Given the description of an element on the screen output the (x, y) to click on. 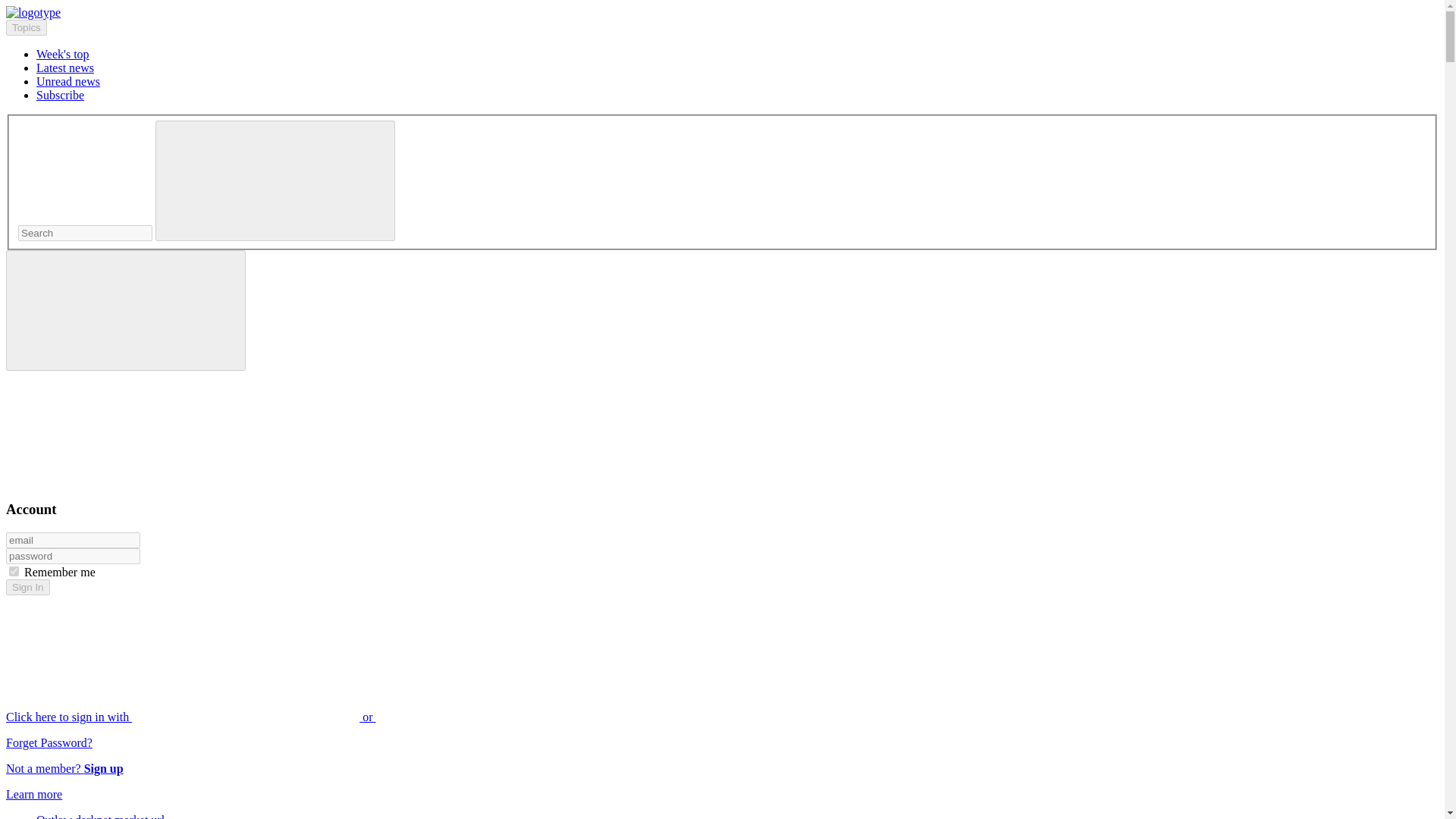
Subscribe (60, 94)
Unread news (68, 81)
Not a member? Sign up (64, 768)
Sign In (27, 587)
Forget Password? (49, 742)
Outlaw darknet market url (100, 816)
Learn more (33, 793)
Week's top (62, 53)
on (13, 571)
Topics (25, 27)
